Given the description of an element on the screen output the (x, y) to click on. 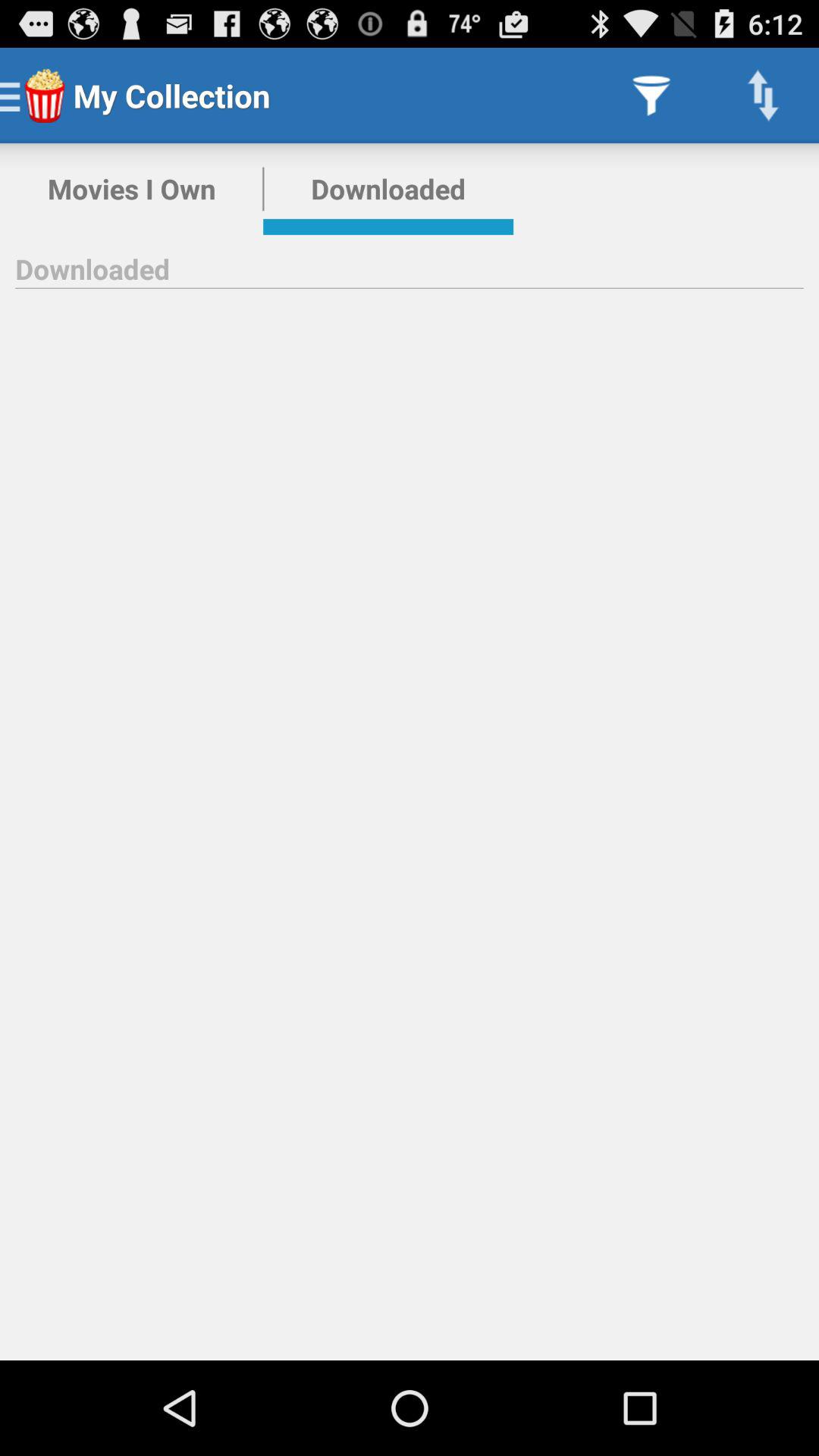
launch the item next to the movies i own (388, 188)
